Given the description of an element on the screen output the (x, y) to click on. 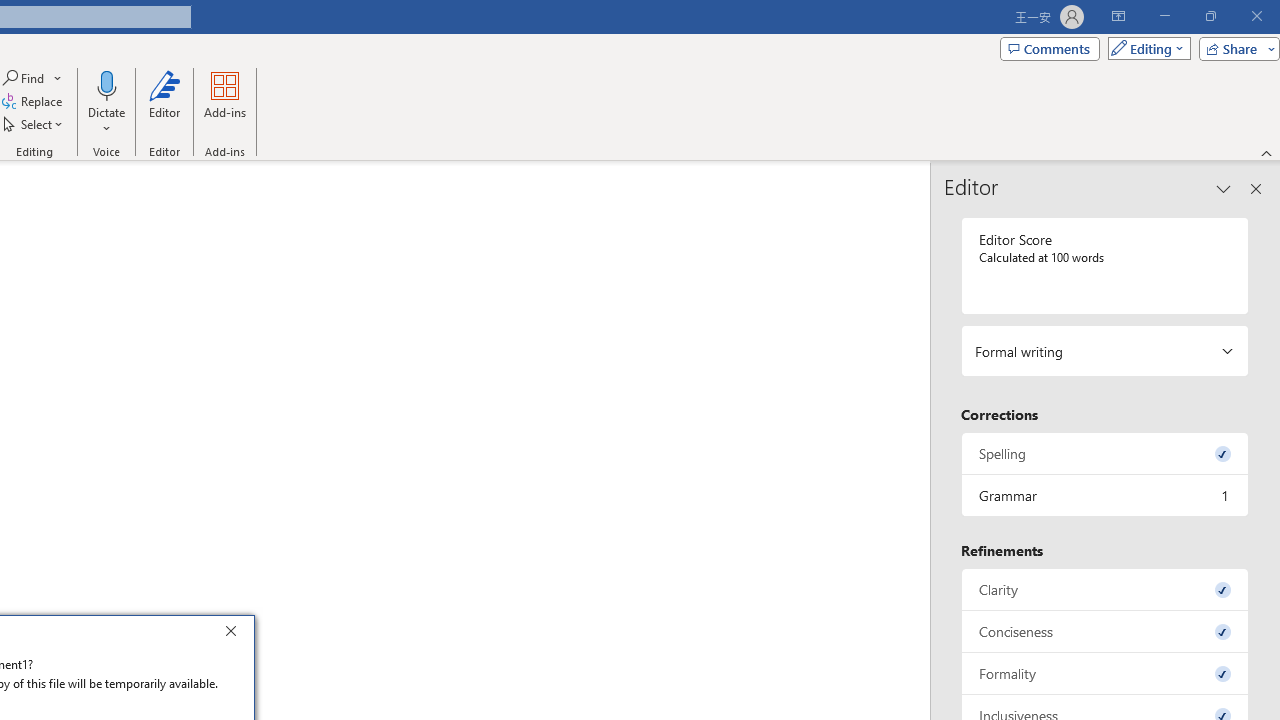
Formality, 0 issues. Press space or enter to review items. (1105, 673)
Spelling, 0 issues. Press space or enter to review items. (1105, 452)
